Given the description of an element on the screen output the (x, y) to click on. 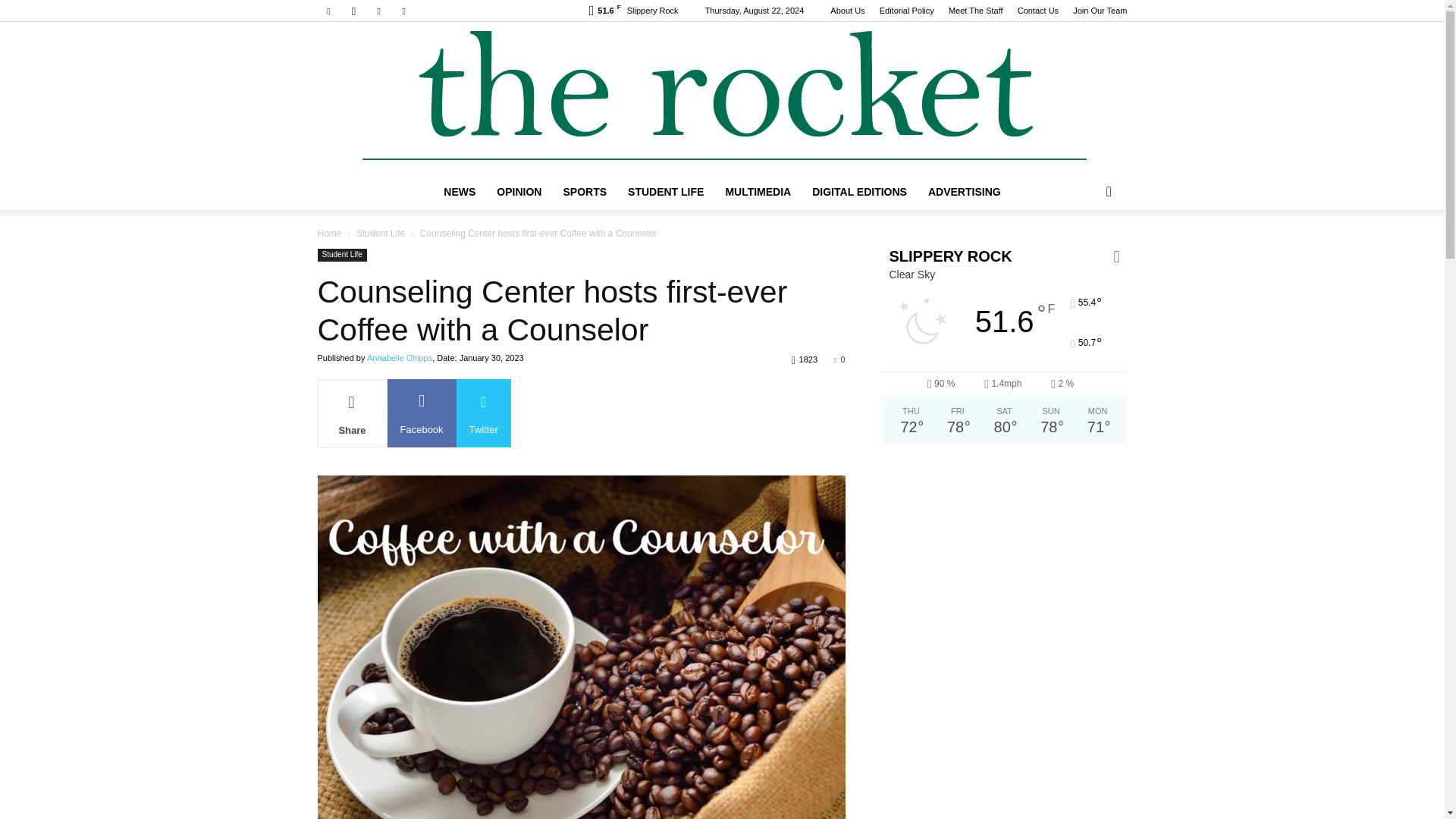
Editorial Policy (906, 10)
STUDENT LIFE (665, 191)
About Us (846, 10)
Youtube (403, 10)
Search (1085, 252)
Meet The Staff (976, 10)
NEWS (459, 191)
Facebook (328, 10)
Home (328, 233)
Twitter (379, 10)
